Given the description of an element on the screen output the (x, y) to click on. 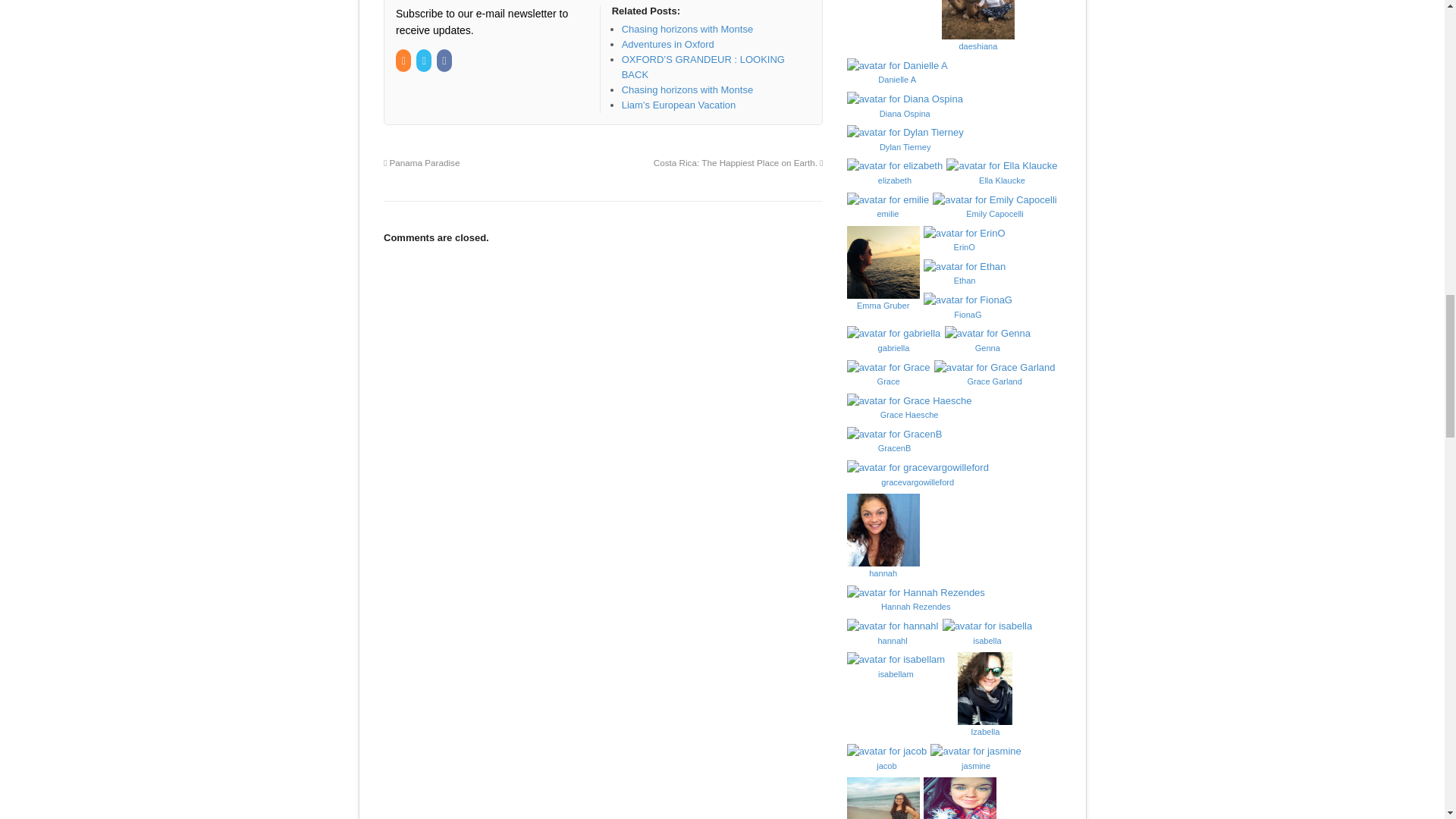
Chasing horizons with Montse (686, 89)
Chasing horizons with Montse (686, 29)
Adventures in Oxford (667, 43)
Chasing horizons with Montse (686, 29)
Twitter (424, 60)
Panama Paradise (422, 162)
Facebook (445, 60)
Chasing horizons with Montse (686, 89)
Costa Rica: The Happiest Place on Earth. (738, 162)
RSS (404, 60)
Adventures in Oxford (667, 43)
